Given the description of an element on the screen output the (x, y) to click on. 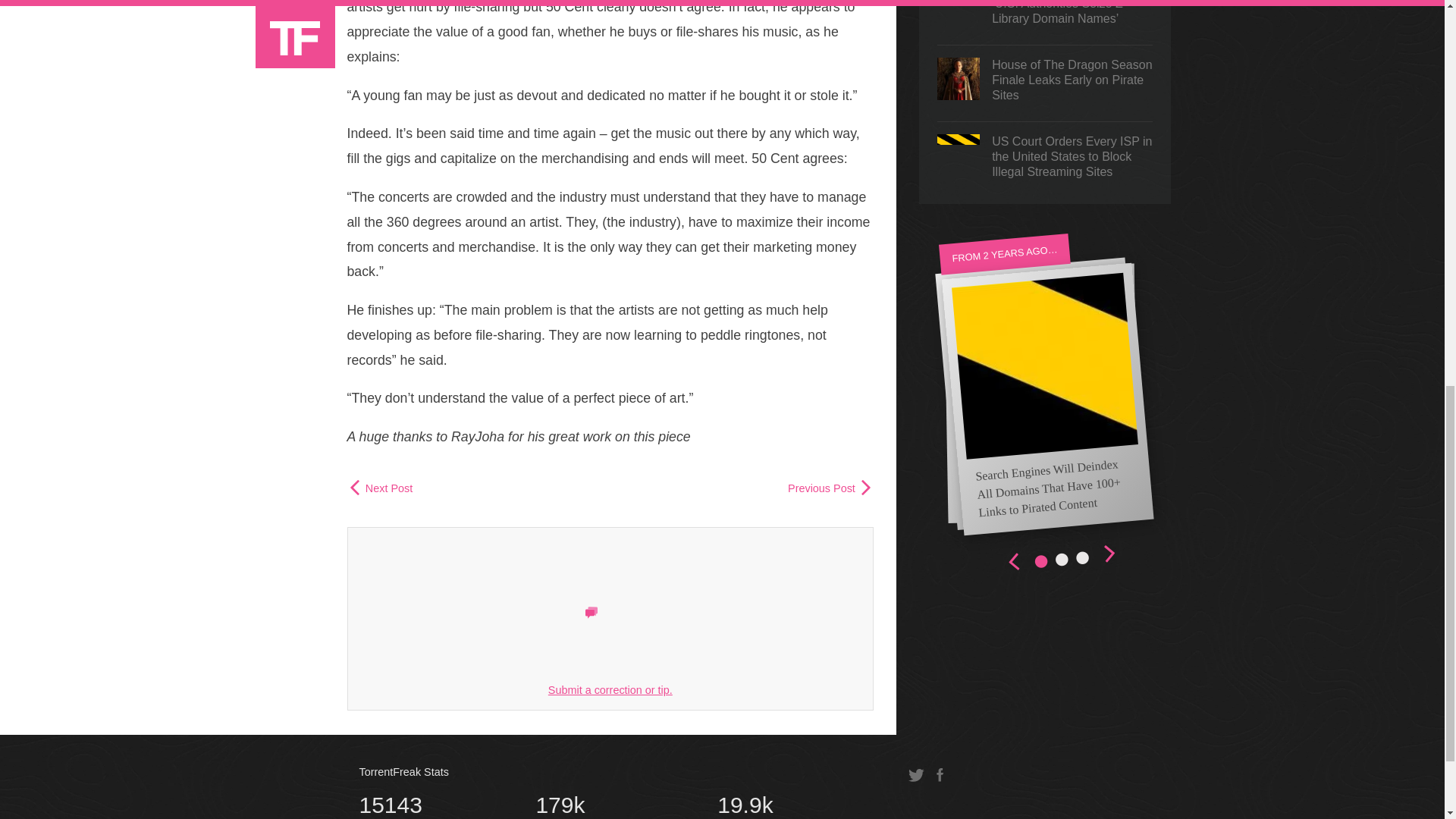
Submit a correction or tip. (610, 689)
Next Post (769, 805)
Previous Post (608, 805)
